Given the description of an element on the screen output the (x, y) to click on. 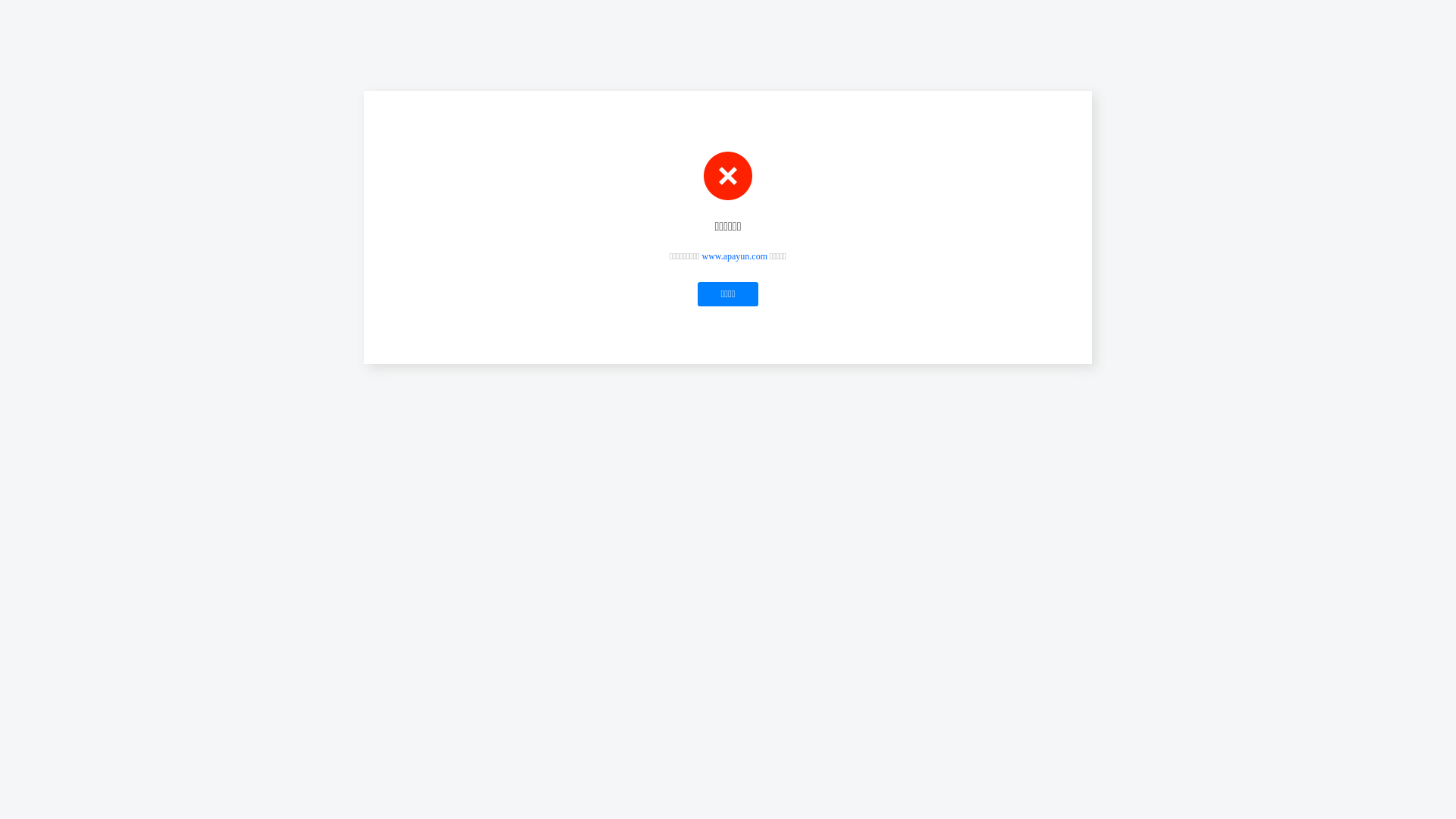
www.apayun.com Element type: text (735, 256)
